Given the description of an element on the screen output the (x, y) to click on. 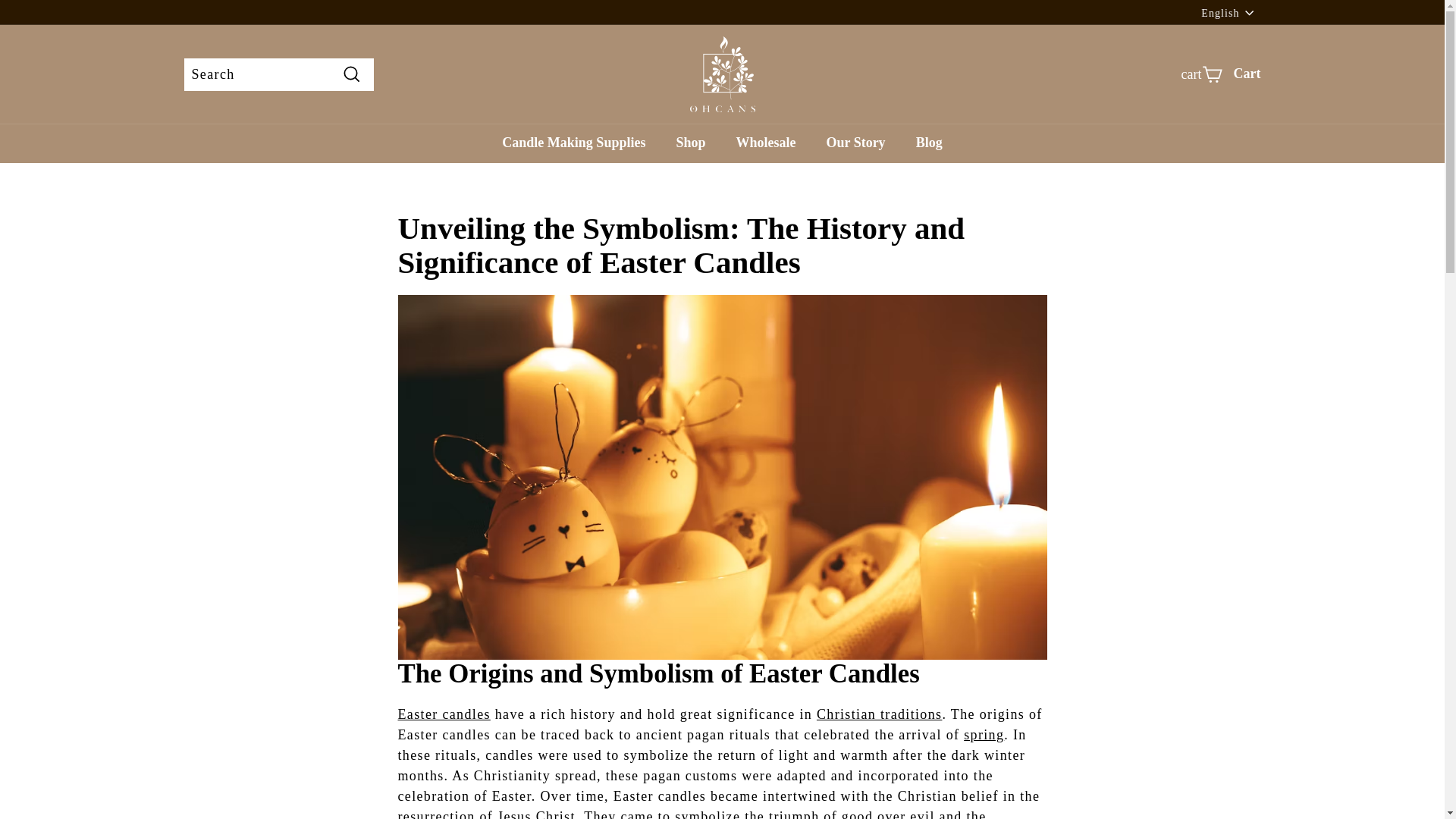
Shop (690, 142)
Blog (929, 142)
Candle Making Supplies (573, 142)
Wholesale (765, 142)
English (1230, 12)
Our Story (854, 142)
